Given the description of an element on the screen output the (x, y) to click on. 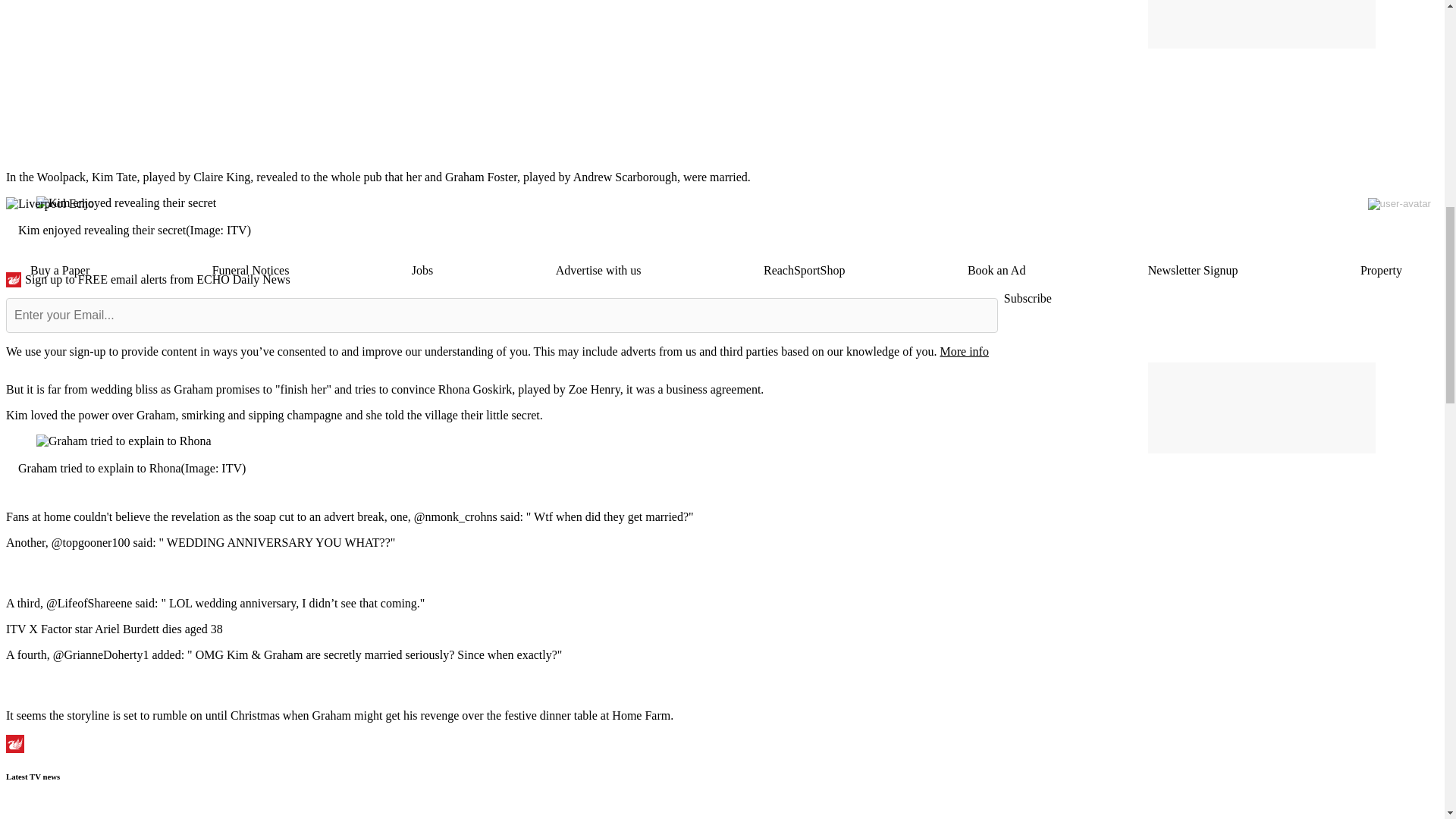
Subscribe (1027, 298)
More info (963, 350)
ITV X Factor star Ariel Burdett dies aged 38 (113, 628)
